Given the description of an element on the screen output the (x, y) to click on. 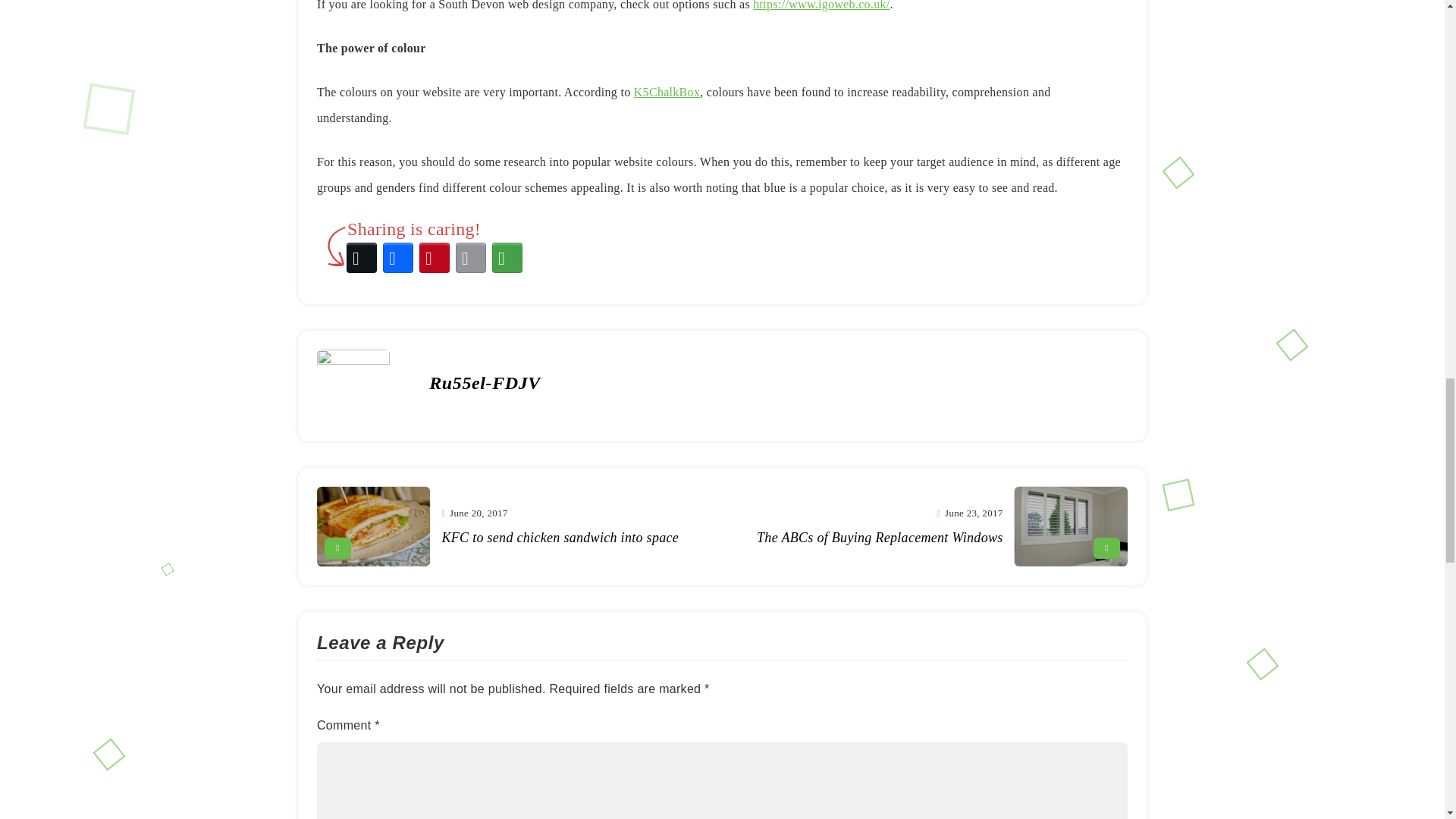
More Options (507, 257)
Facebook (398, 257)
Email This (470, 257)
Pinterest (434, 257)
